Given the description of an element on the screen output the (x, y) to click on. 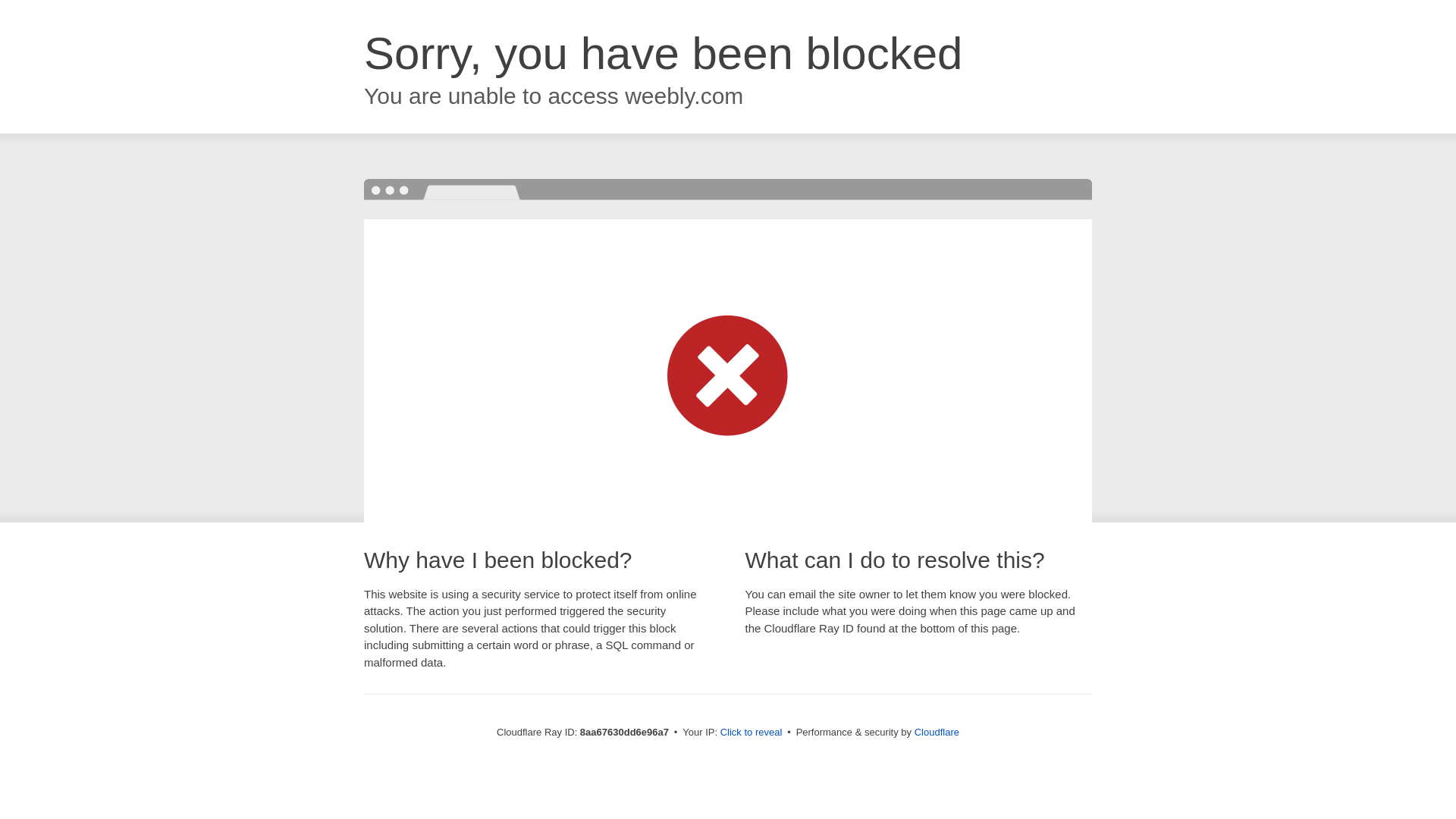
Click to reveal (751, 732)
Cloudflare (936, 731)
